Given the description of an element on the screen output the (x, y) to click on. 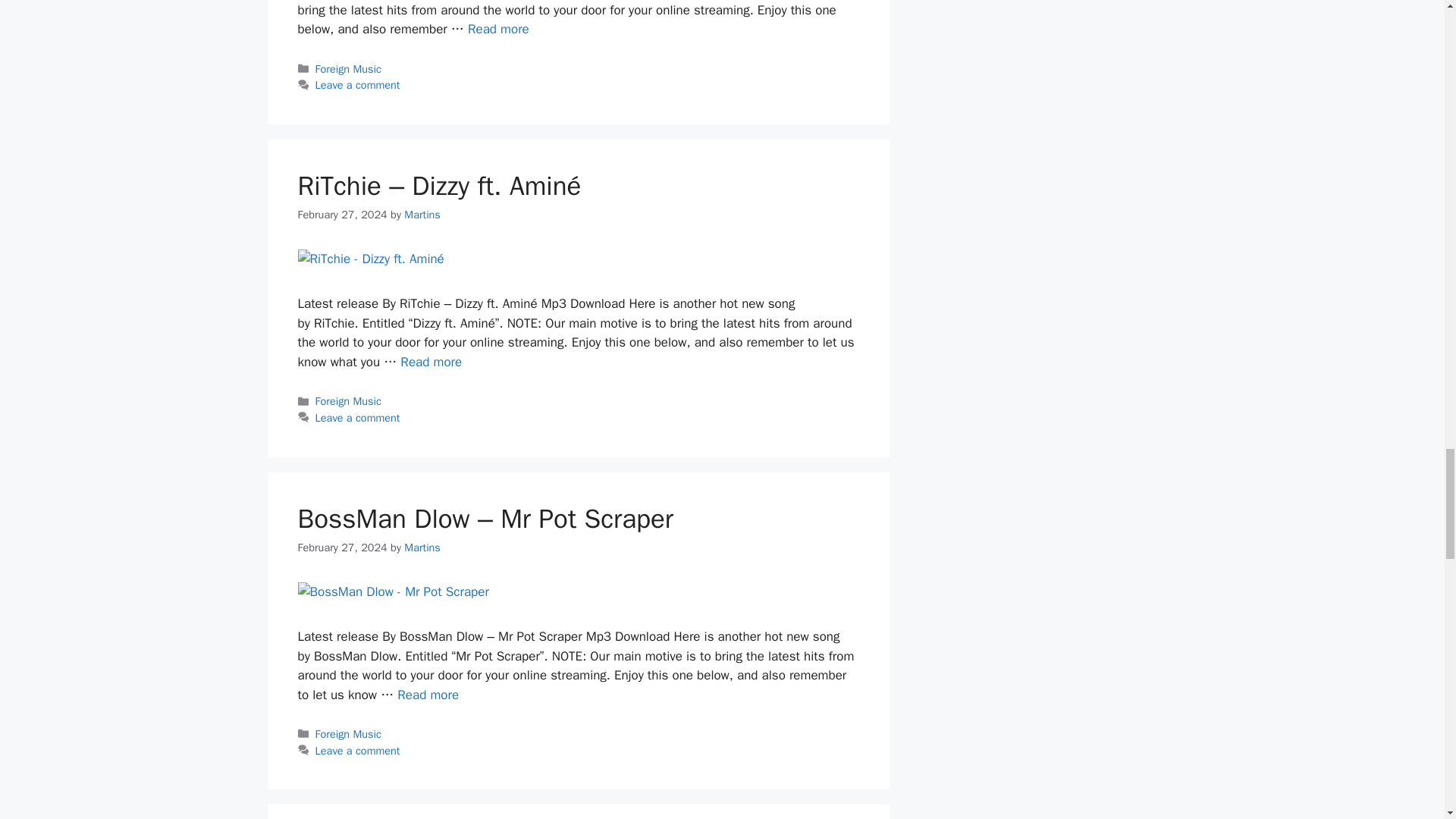
View all posts by Martins (422, 214)
